Given the description of an element on the screen output the (x, y) to click on. 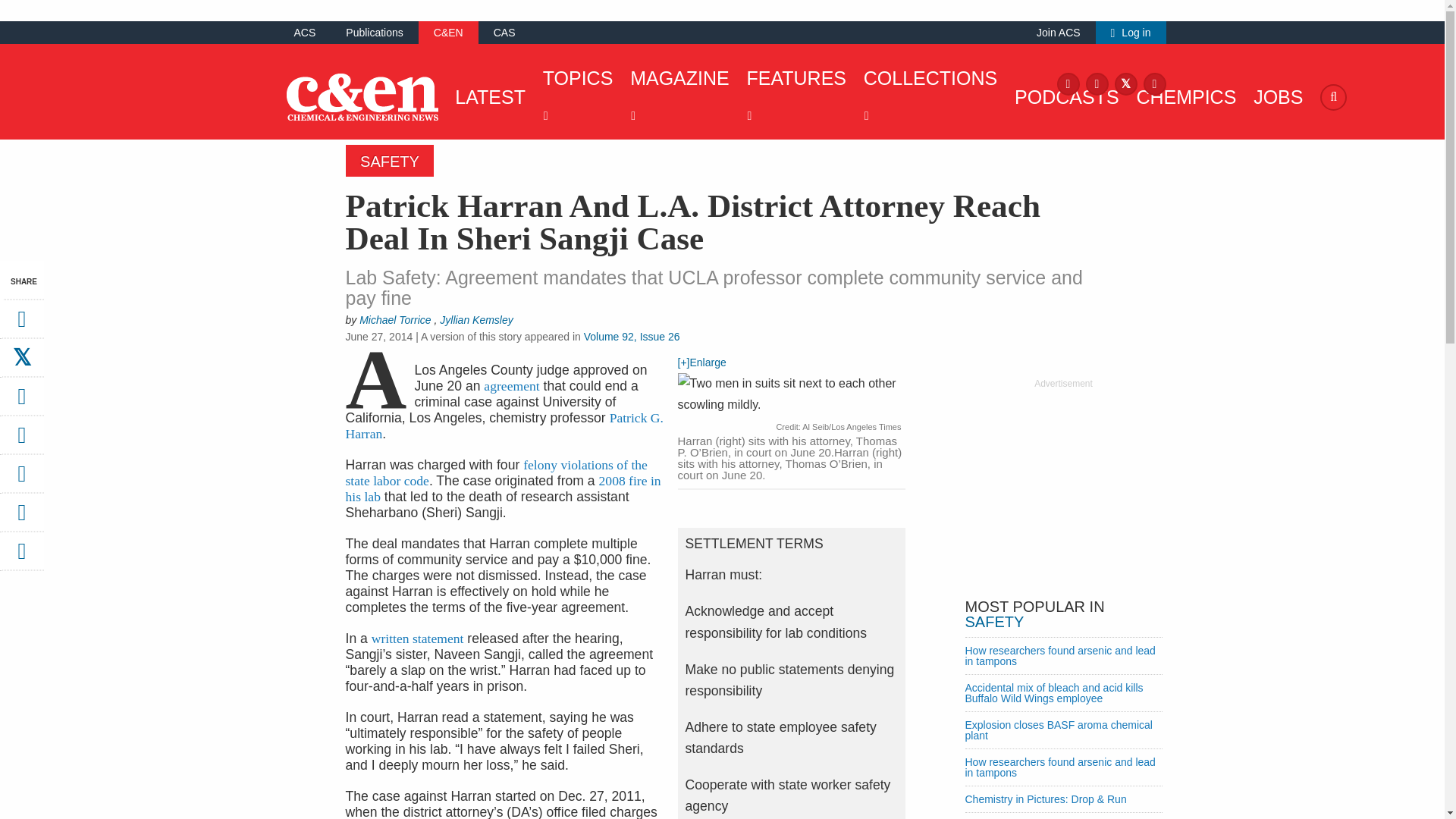
Log in (1130, 32)
TOPICS (573, 96)
X (1126, 82)
Join ACS (1058, 32)
ACS (304, 32)
Facebook (1068, 82)
CAS (504, 32)
Two men in suits sit next to each other scowling mildly. (791, 396)
Patrick G. Harran (504, 425)
Instagram (1097, 82)
